Given the description of an element on the screen output the (x, y) to click on. 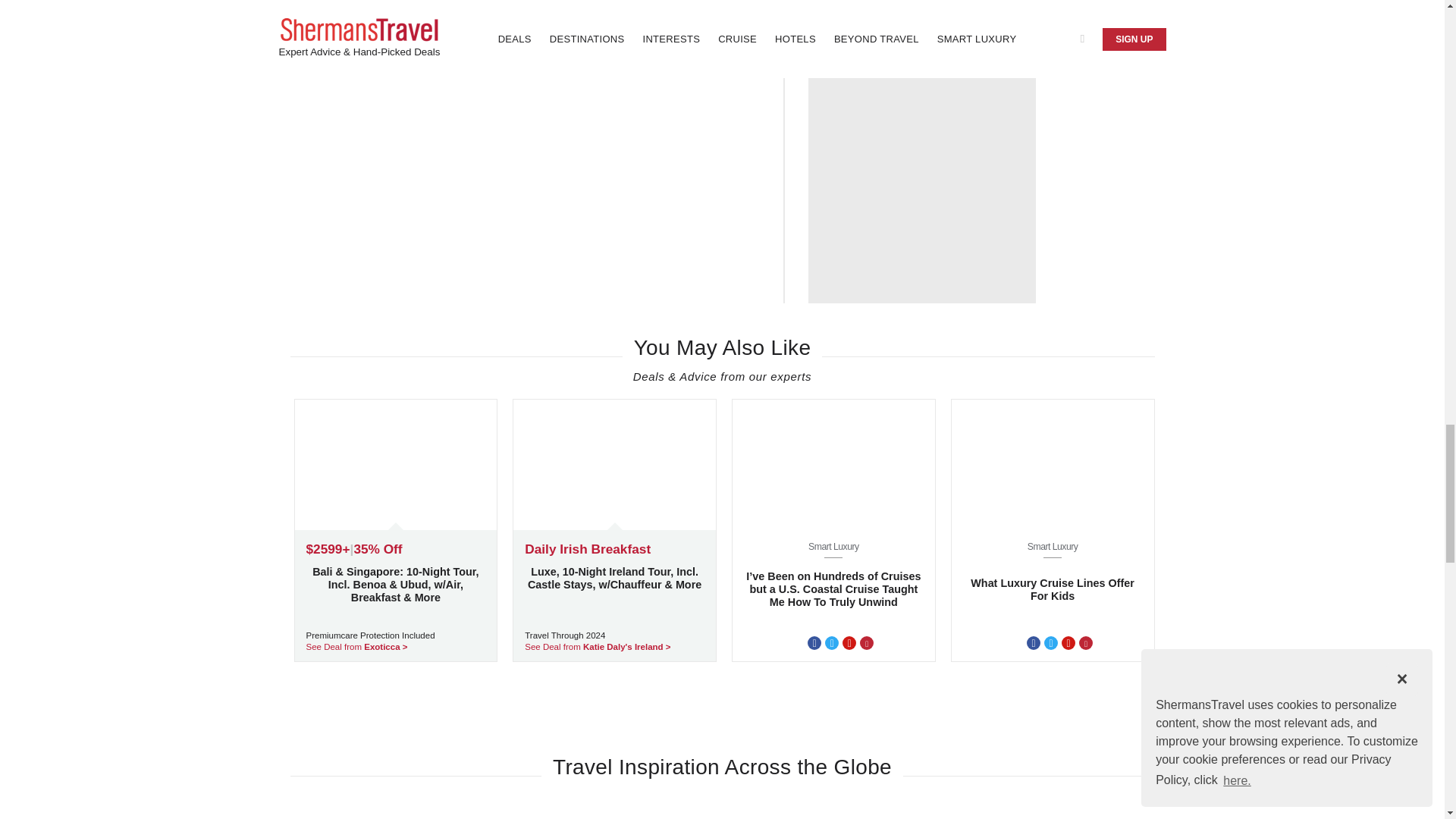
6 Kinds of Shore Excursions to Avoid (418, 29)
We Tried It: Chef's Table on Princess Cruises (934, 16)
